Given the description of an element on the screen output the (x, y) to click on. 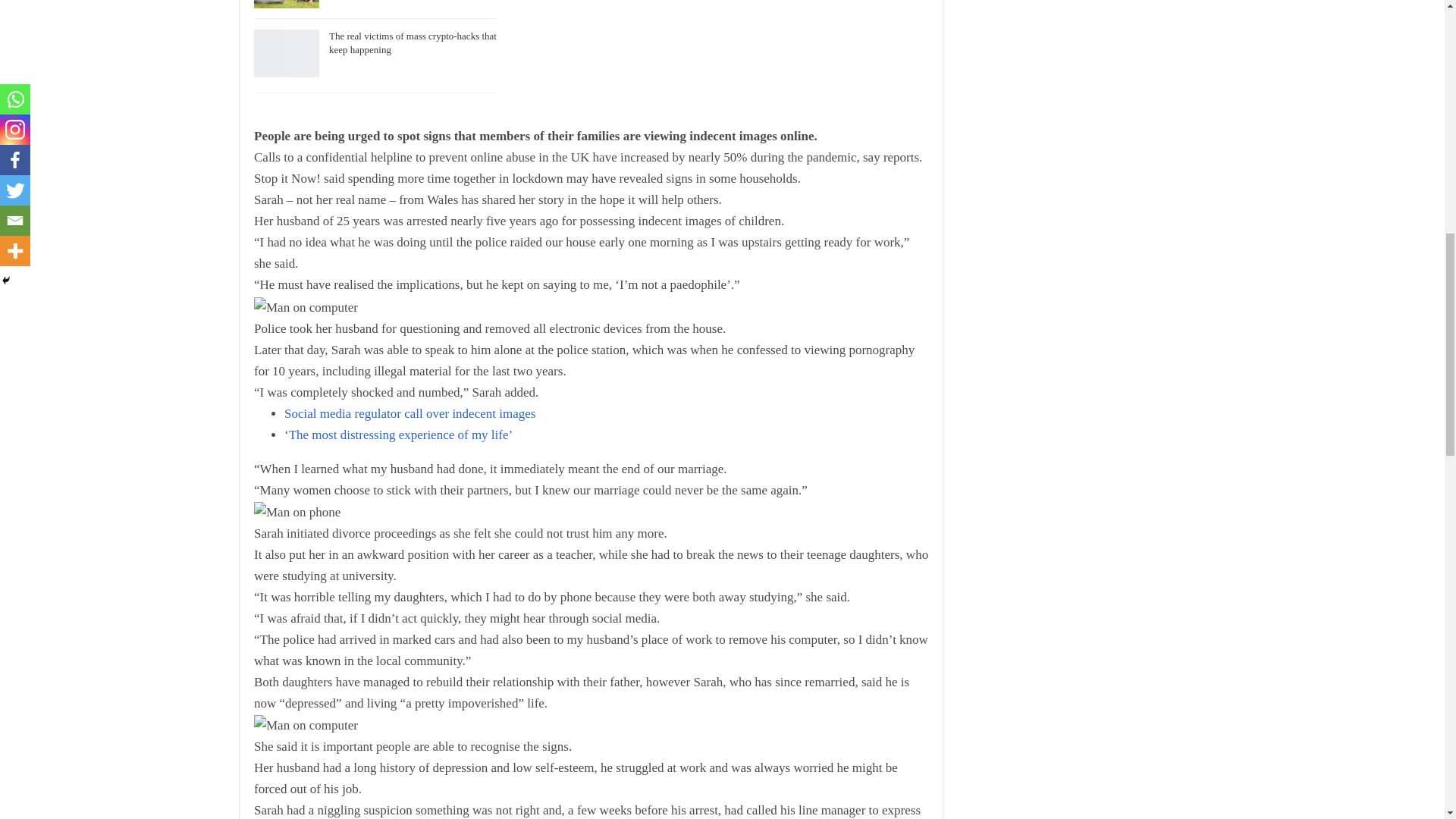
The real victims of mass crypto-hacks that keep happening (412, 42)
The real victims of mass crypto-hacks that keep happening (285, 53)
